Given the description of an element on the screen output the (x, y) to click on. 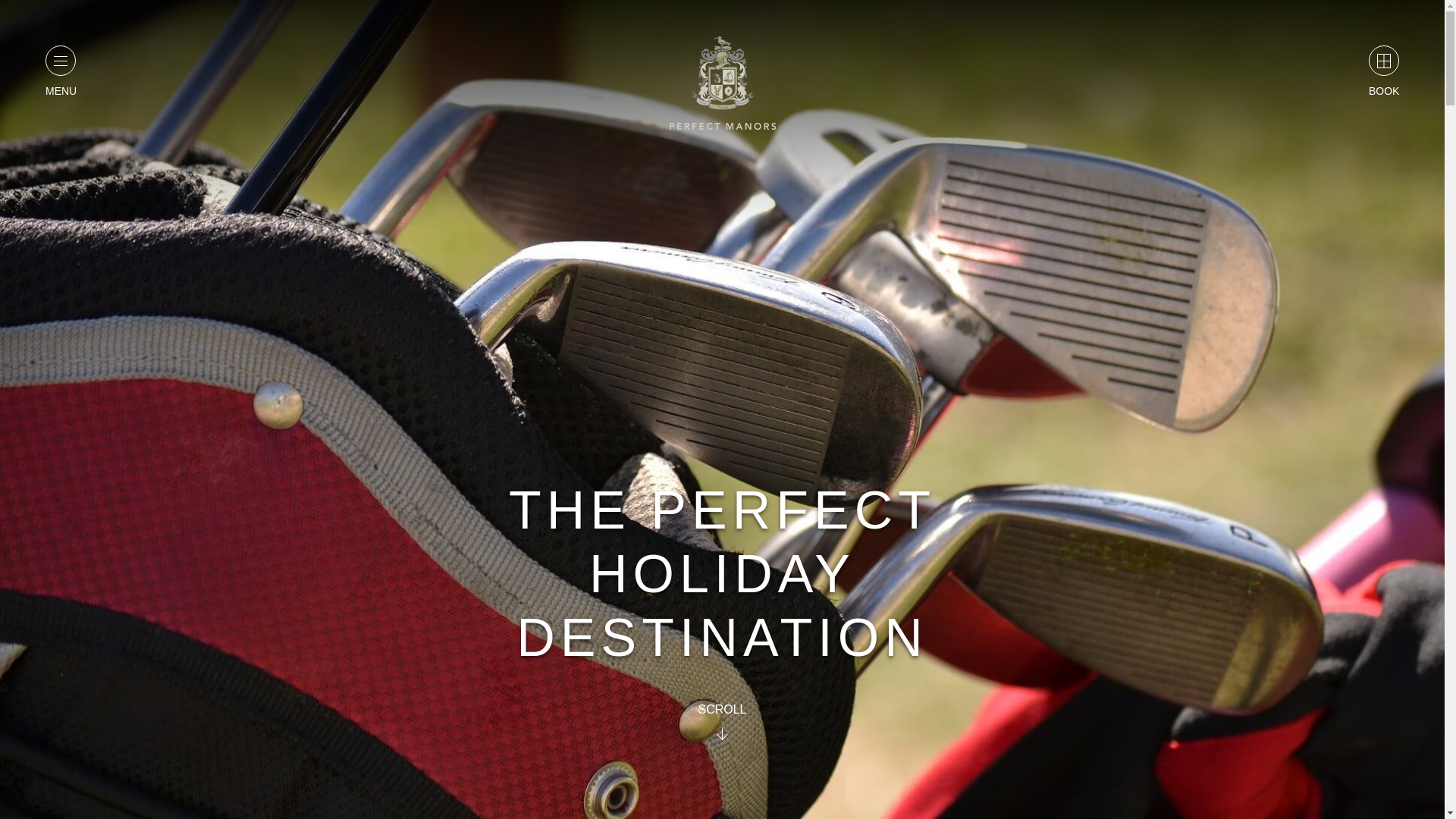
SCROLL (721, 721)
Perfect Manors - Escape the Ordinary (721, 83)
